Given the description of an element on the screen output the (x, y) to click on. 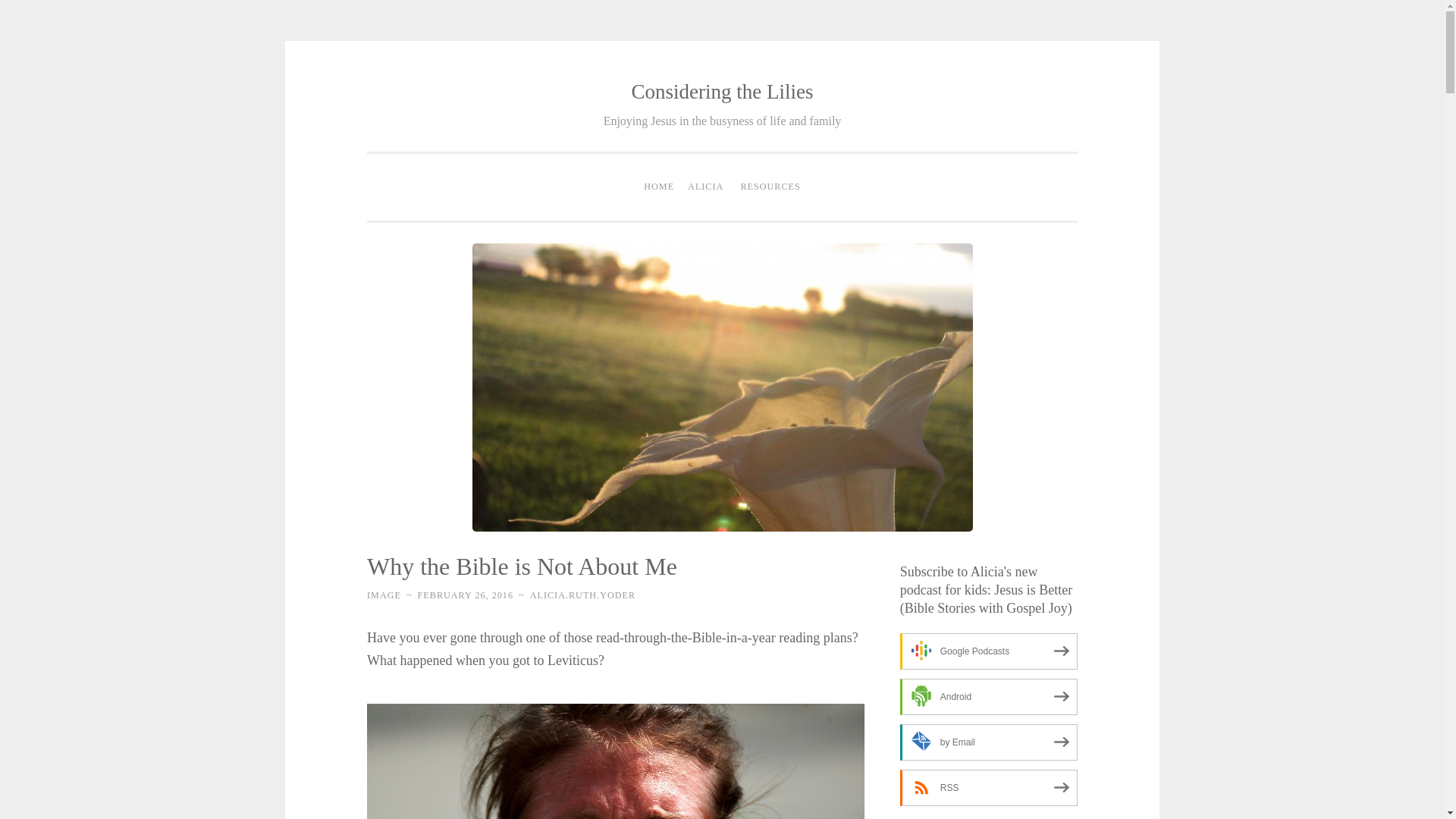
Subscribe via RSS (988, 787)
Subscribe by Email (988, 741)
RESOURCES (769, 186)
ALICIA (705, 186)
IMAGE (383, 594)
FEBRUARY 26, 2016 (465, 594)
Subscribe on Android (988, 696)
Considering the Lilies (722, 91)
All Image posts (383, 594)
